Given the description of an element on the screen output the (x, y) to click on. 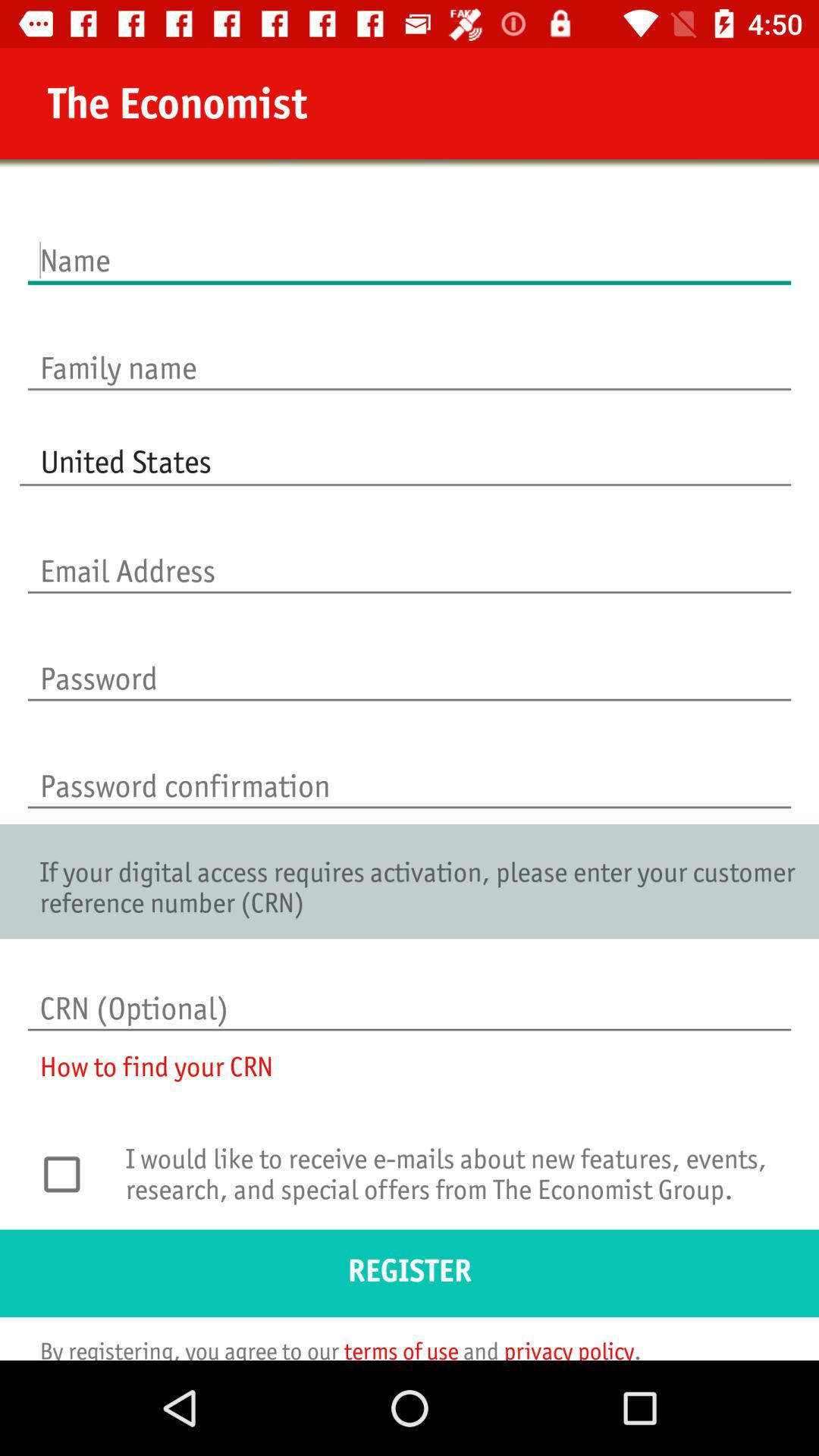
turn off item above register (454, 1183)
